Given the description of an element on the screen output the (x, y) to click on. 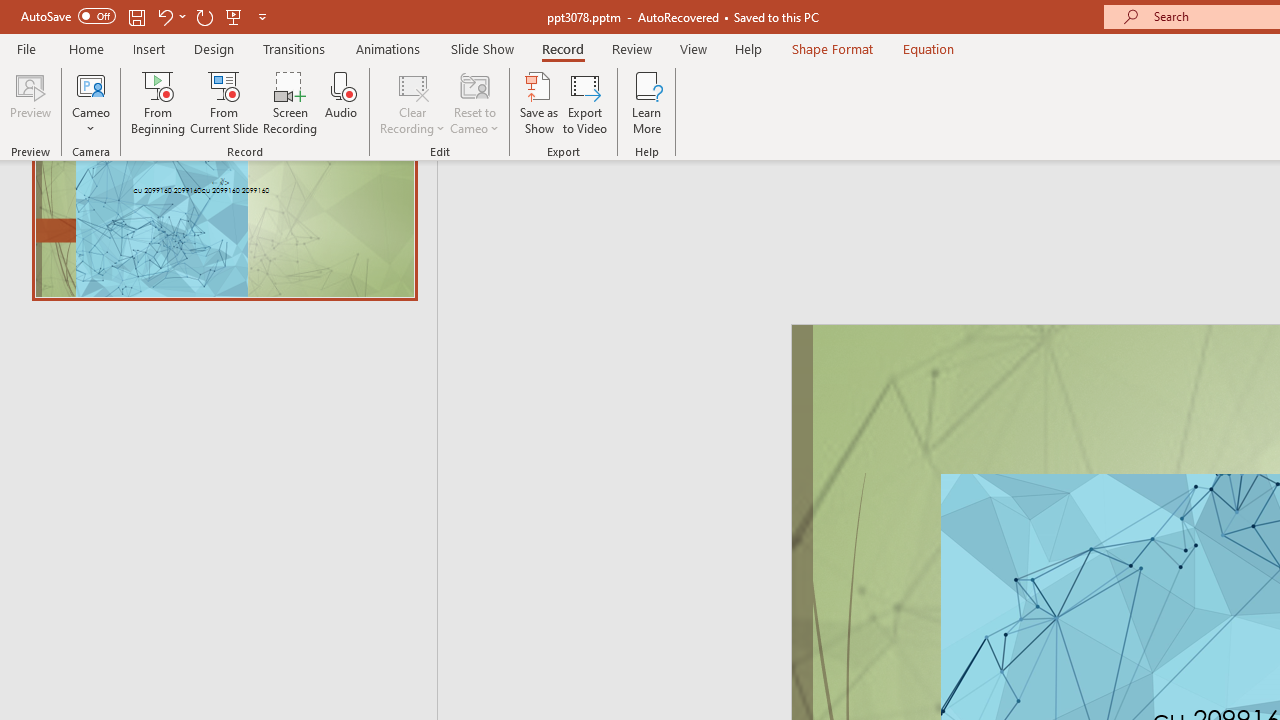
Equation (928, 48)
